Given the description of an element on the screen output the (x, y) to click on. 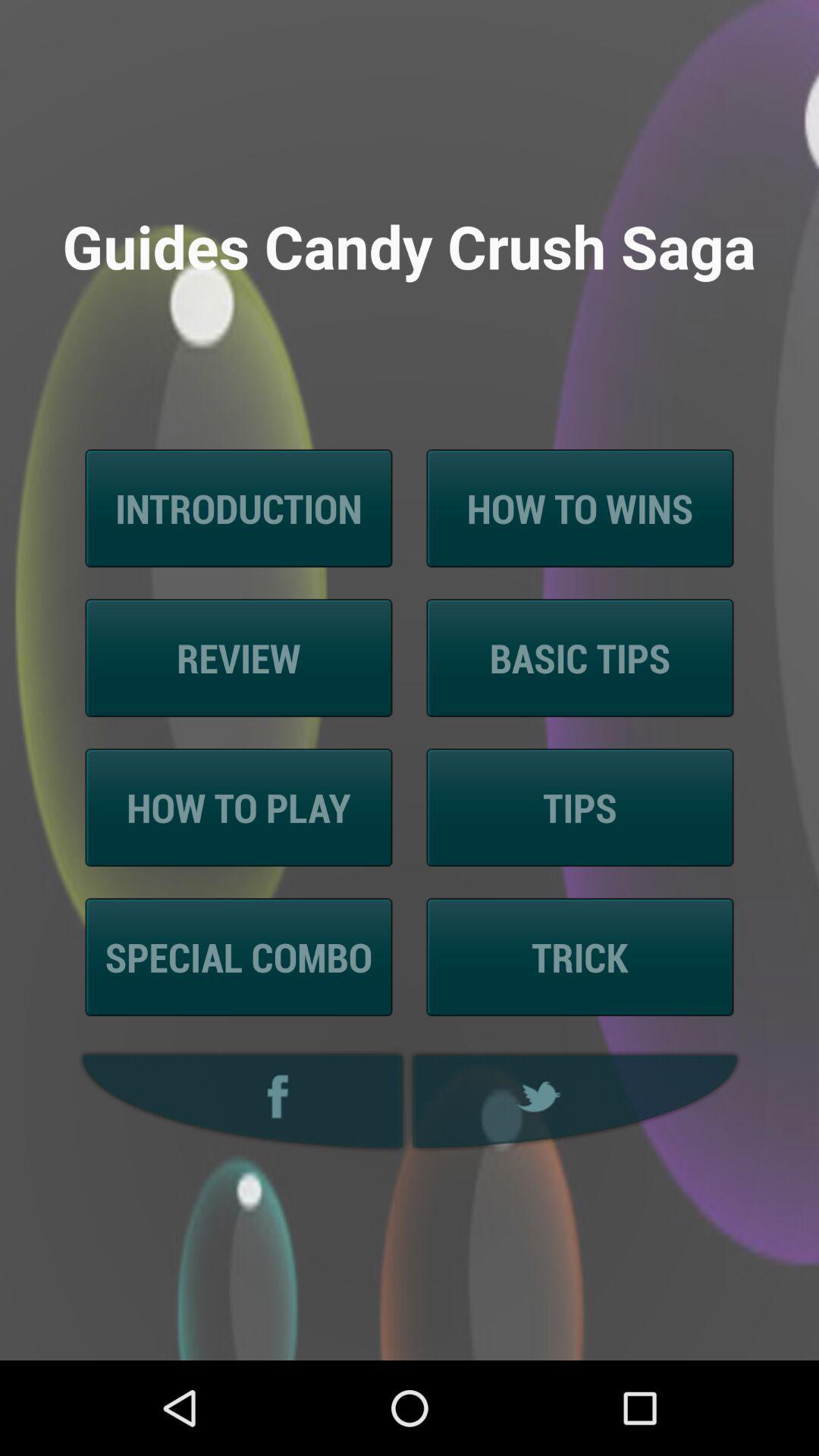
turn off the item at the bottom left corner (238, 1101)
